Given the description of an element on the screen output the (x, y) to click on. 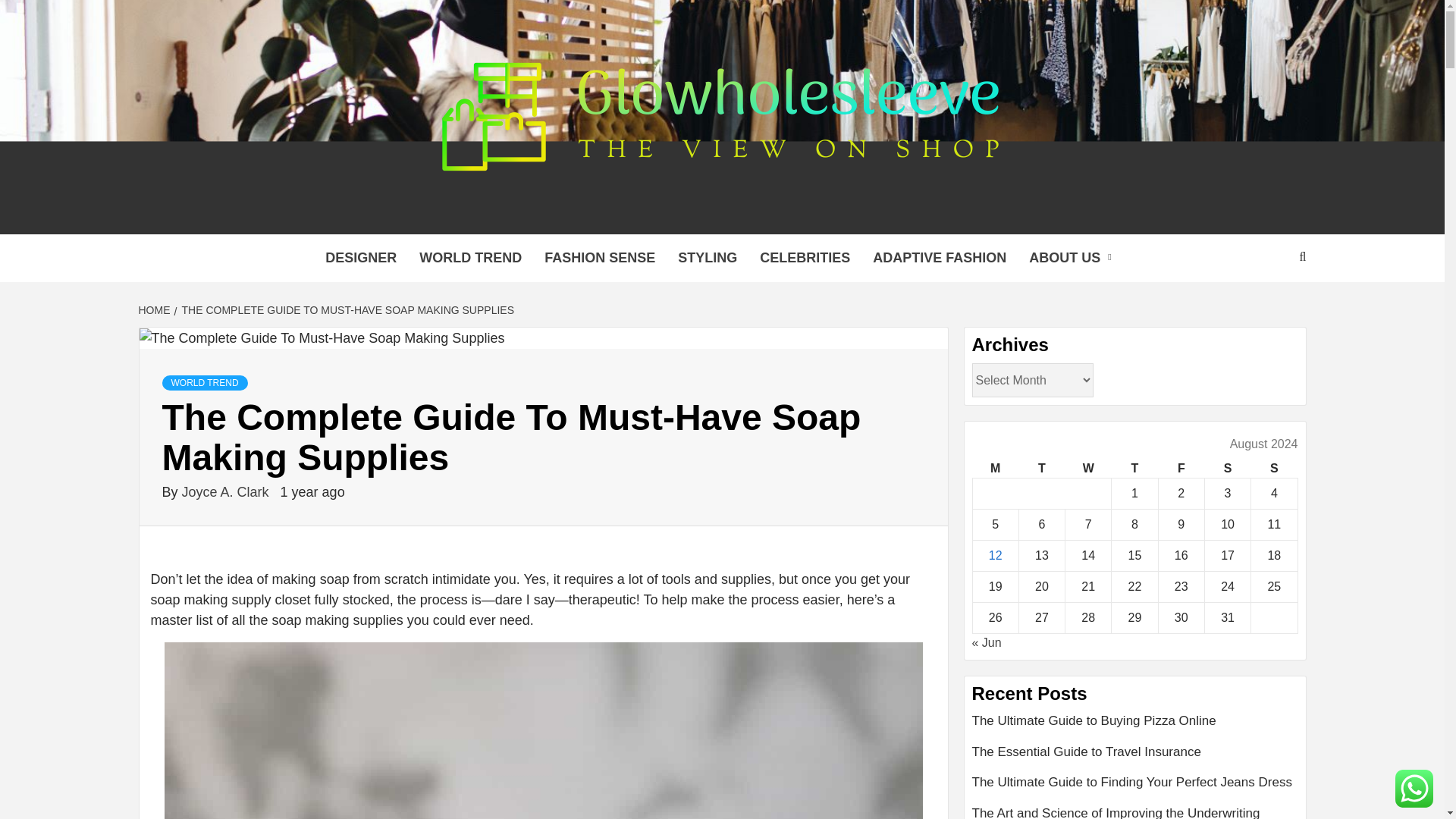
DESIGNER (360, 257)
ADAPTIVE FASHION (939, 257)
WORLD TREND (469, 257)
FASHION SENSE (599, 257)
ABOUT US (1073, 257)
Joyce A. Clark (227, 491)
CELEBRITIES (804, 257)
WORLD TREND (204, 382)
STYLING (707, 257)
THE COMPLETE GUIDE TO MUST-HAVE SOAP MAKING SUPPLIES (346, 309)
